Given the description of an element on the screen output the (x, y) to click on. 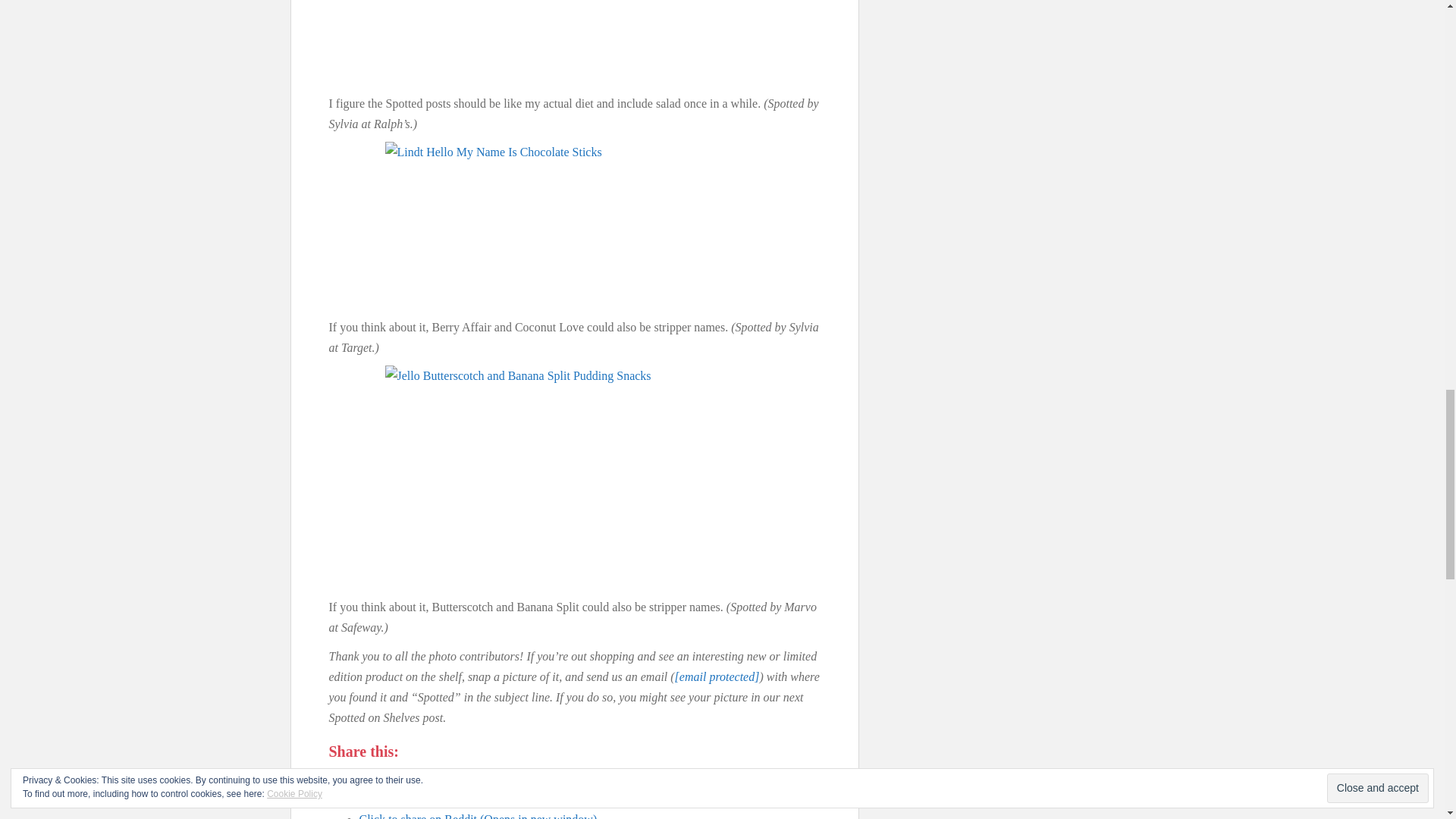
Lindt Hello My Name Is Chocolate Sticks (574, 225)
Click to share on Twitter (479, 777)
View 'Lindt Hello My Name Is Chocolate Sticks' on Flickr.com (575, 225)
Jello Butterscotch and Banana Split Pudding Snacks (574, 476)
